Given the description of an element on the screen output the (x, y) to click on. 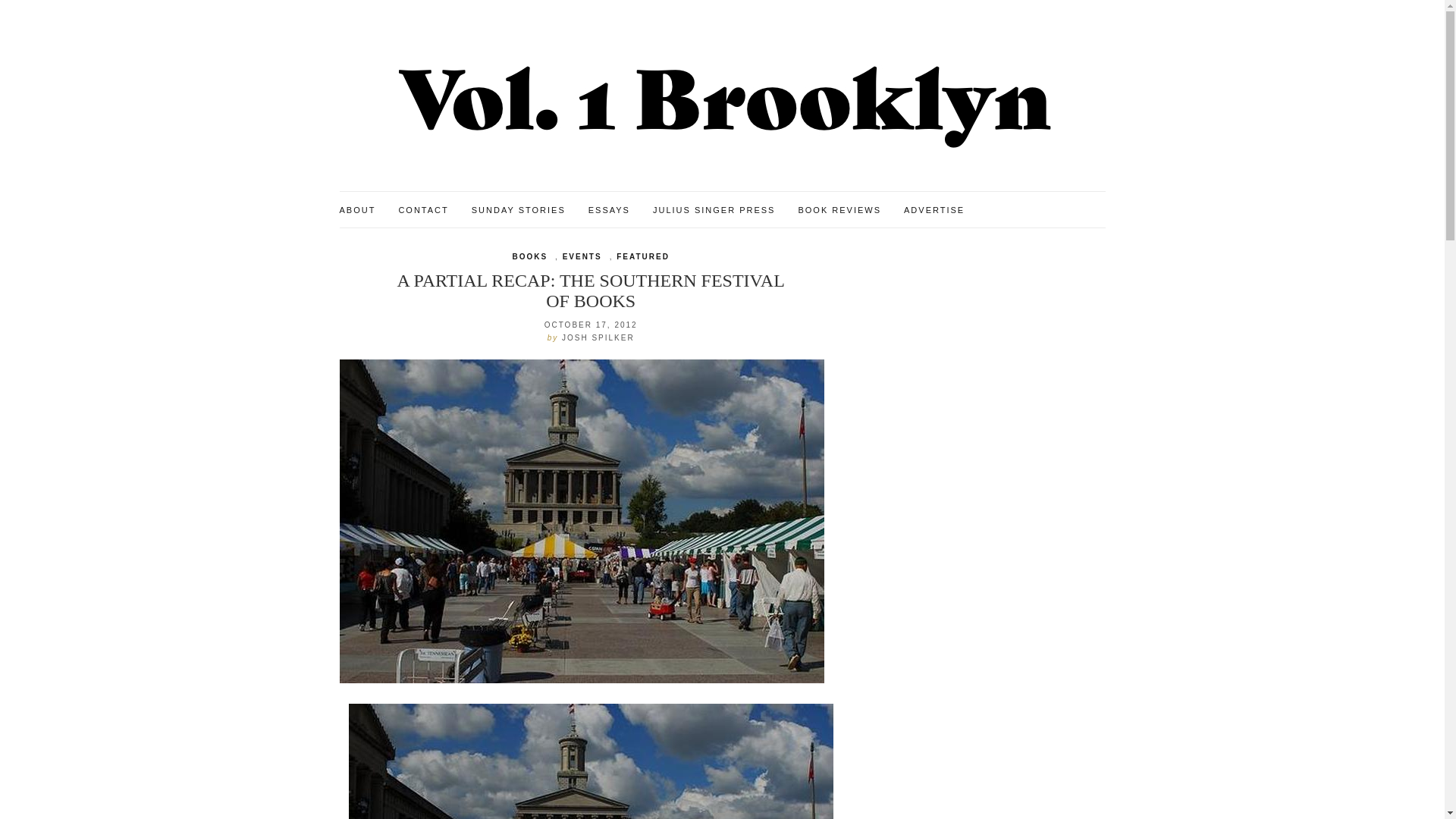
ESSAYS (609, 210)
JULIUS SINGER PRESS (713, 210)
ADVERTISE (933, 210)
SUNDAY STORIES (518, 210)
southern festival of books (590, 761)
BOOK REVIEWS (838, 210)
BOOKS (529, 256)
EVENTS (582, 256)
CONTACT (422, 210)
FEATURED (642, 256)
ABOUT (357, 210)
by (554, 337)
